Given the description of an element on the screen output the (x, y) to click on. 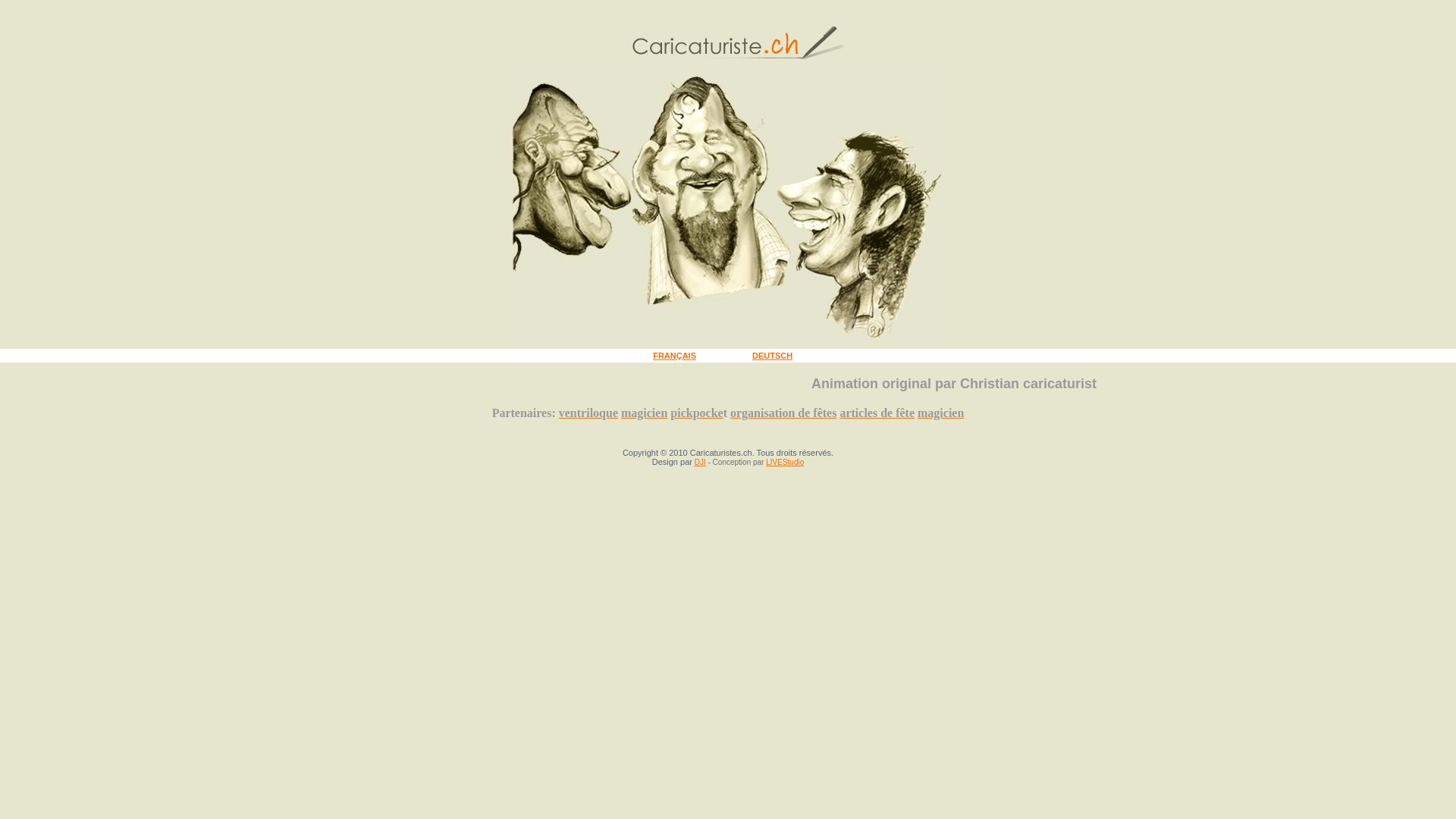
ventriloque Element type: text (588, 412)
pickpocke Element type: text (696, 412)
DEUTSCH Element type: text (772, 354)
DJI Element type: text (700, 462)
LIVEStudio Element type: text (784, 462)
magicien Element type: text (644, 412)
magicien Element type: text (940, 412)
